Given the description of an element on the screen output the (x, y) to click on. 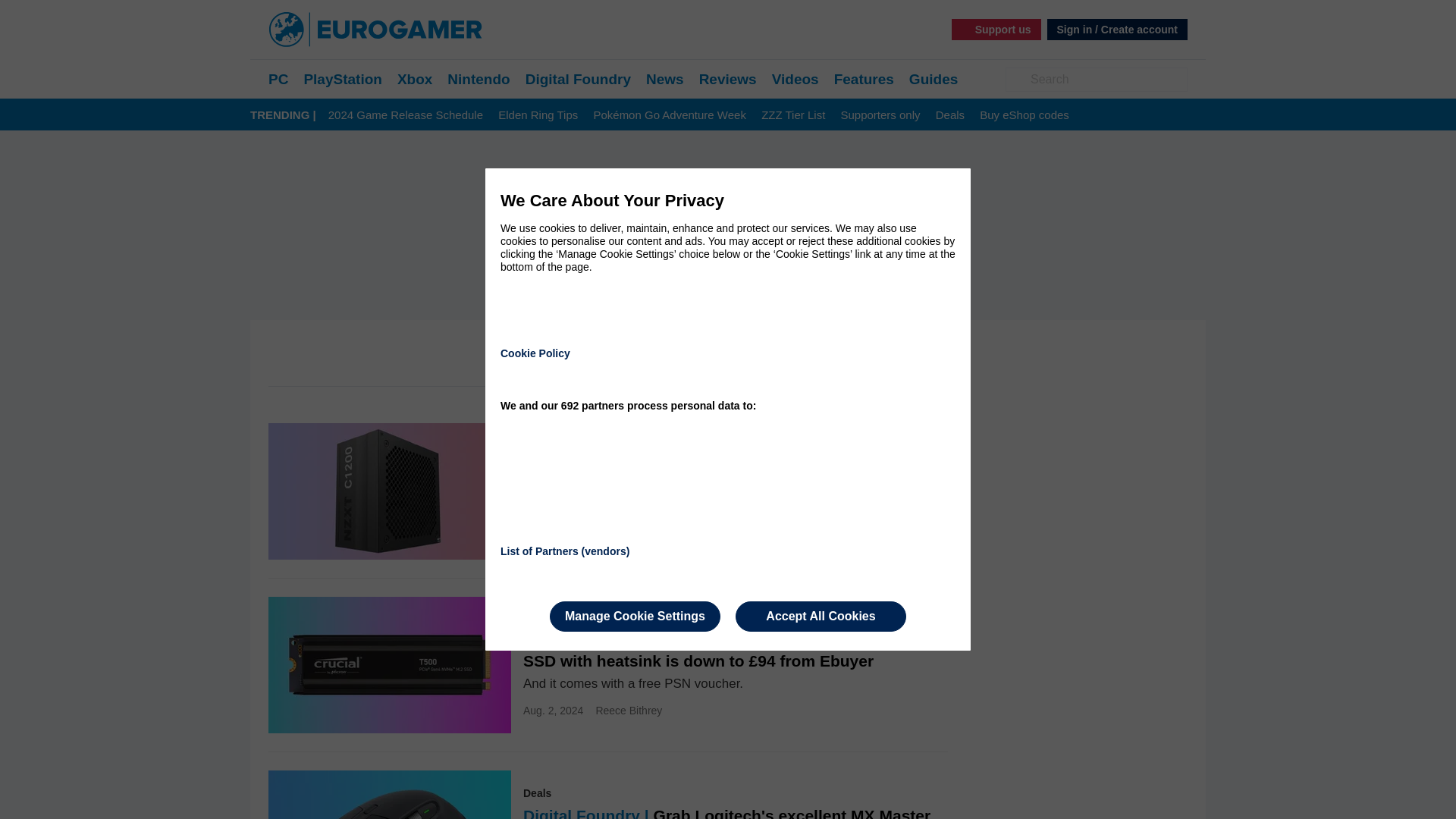
Reviews (727, 78)
Reviews (727, 78)
Xbox (414, 78)
Elden Ring Tips (537, 114)
Buy eShop codes (1023, 114)
Guides (933, 78)
News (665, 78)
ZZZ Tier List (793, 114)
Digital Foundry (577, 78)
2024 Game Release Schedule (406, 114)
News (665, 78)
Deals (949, 114)
Features (863, 78)
Supporters only (880, 114)
Digital Foundry (577, 78)
